Given the description of an element on the screen output the (x, y) to click on. 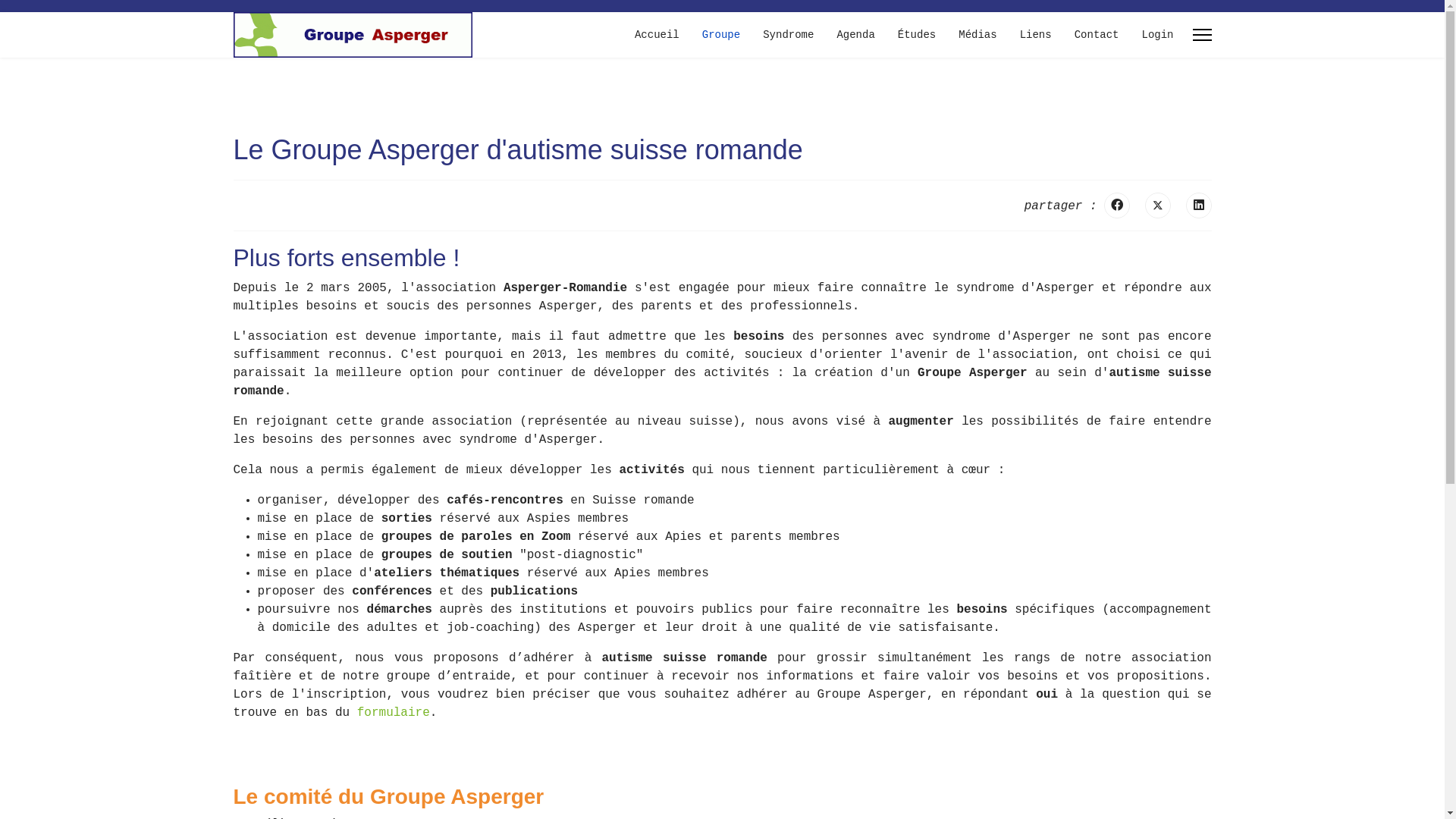
Liens Element type: text (1035, 34)
LinkedIn Element type: hover (1198, 205)
Menu Element type: hover (1201, 34)
Contact Element type: text (1096, 34)
formulaire Element type: text (393, 712)
Facebook Element type: hover (1116, 205)
Login Element type: text (1151, 34)
Groupe Element type: text (720, 34)
Syndrome Element type: text (788, 34)
Agenda Element type: text (855, 34)
Accueil Element type: text (656, 34)
Twitter Element type: hover (1157, 205)
